Given the description of an element on the screen output the (x, y) to click on. 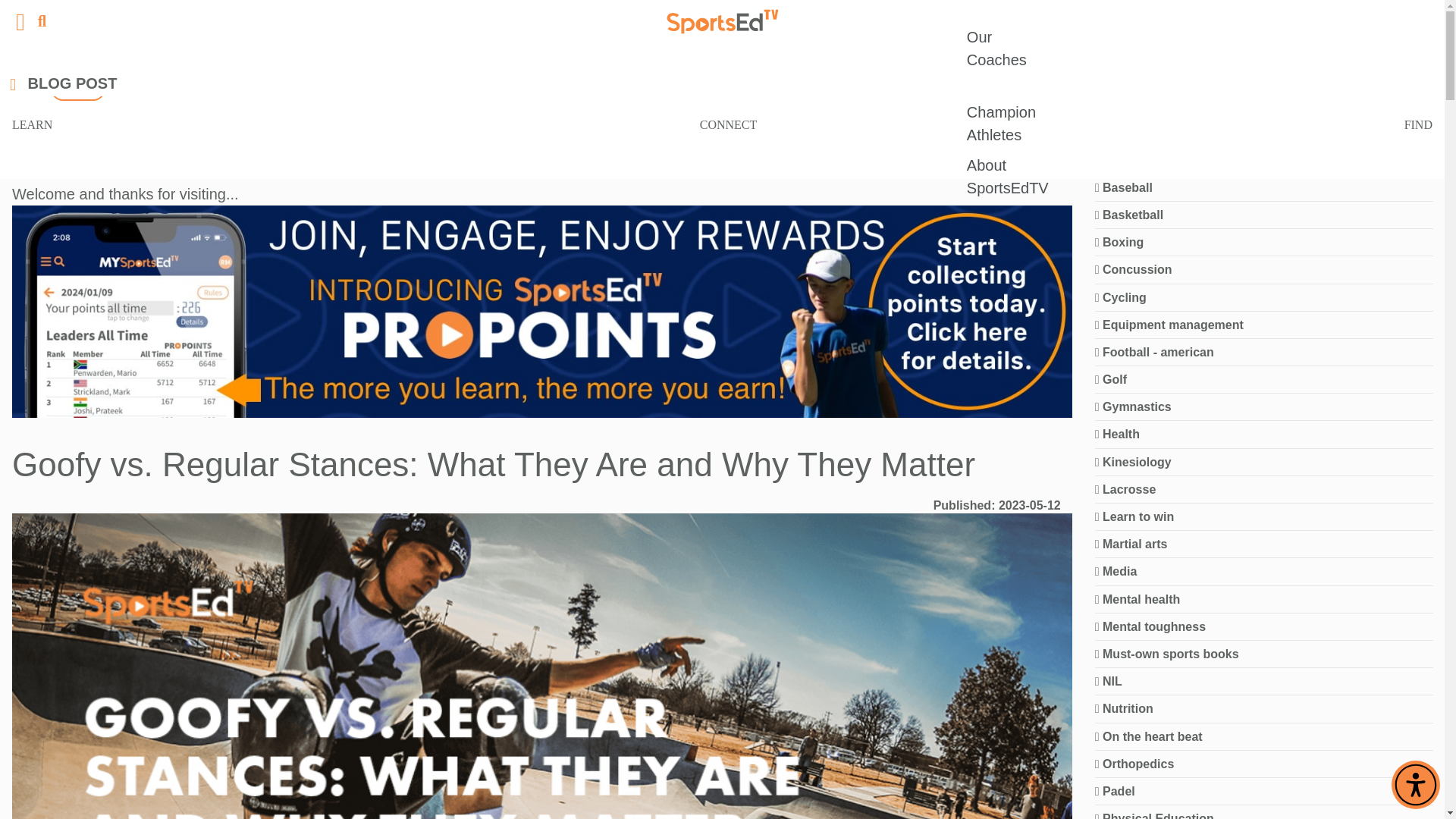
About SportsEdTV (1007, 176)
LEARN (32, 125)
Next (1042, 116)
Sign In (77, 88)
CONNECT (728, 125)
Previous (965, 116)
EXPLORE (347, 88)
Our Coaches (1007, 48)
Our Champion Athletes (1007, 111)
Accessibility Menu (1415, 784)
